Given the description of an element on the screen output the (x, y) to click on. 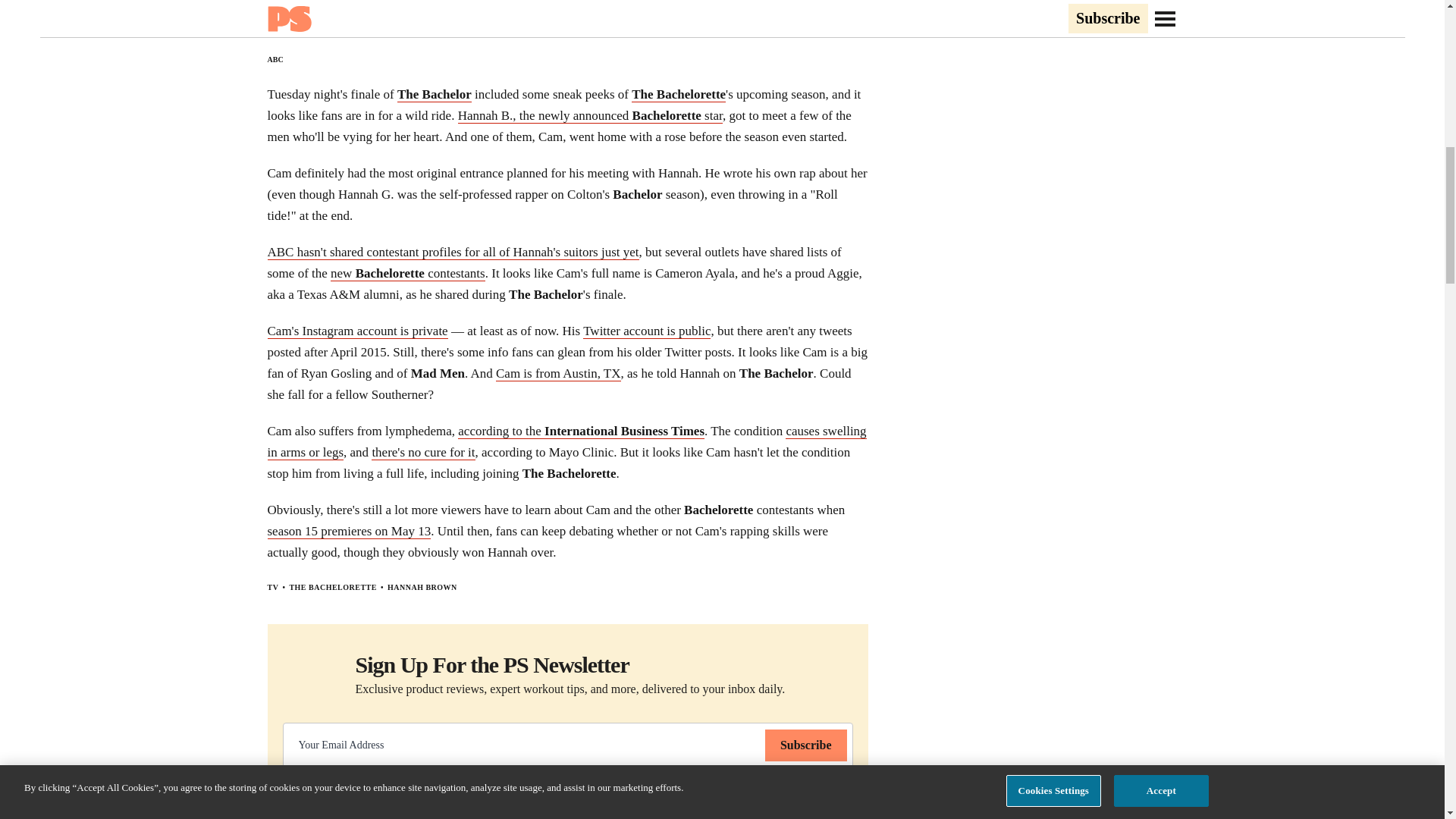
The Bachelorette (678, 94)
Hannah B., the newly announced Bachelorette star (590, 115)
Cam's Instagram account is private (356, 331)
TV (272, 587)
HANNAH BROWN (422, 587)
there's no cure for it (422, 452)
Twitter account is public (646, 331)
according to the International Business Times (581, 431)
Subscribe (806, 745)
Privacy Policy. (825, 787)
THE BACHELORETTE (332, 587)
Terms (768, 787)
Cam is from Austin, TX (558, 373)
ABC (274, 59)
